Given the description of an element on the screen output the (x, y) to click on. 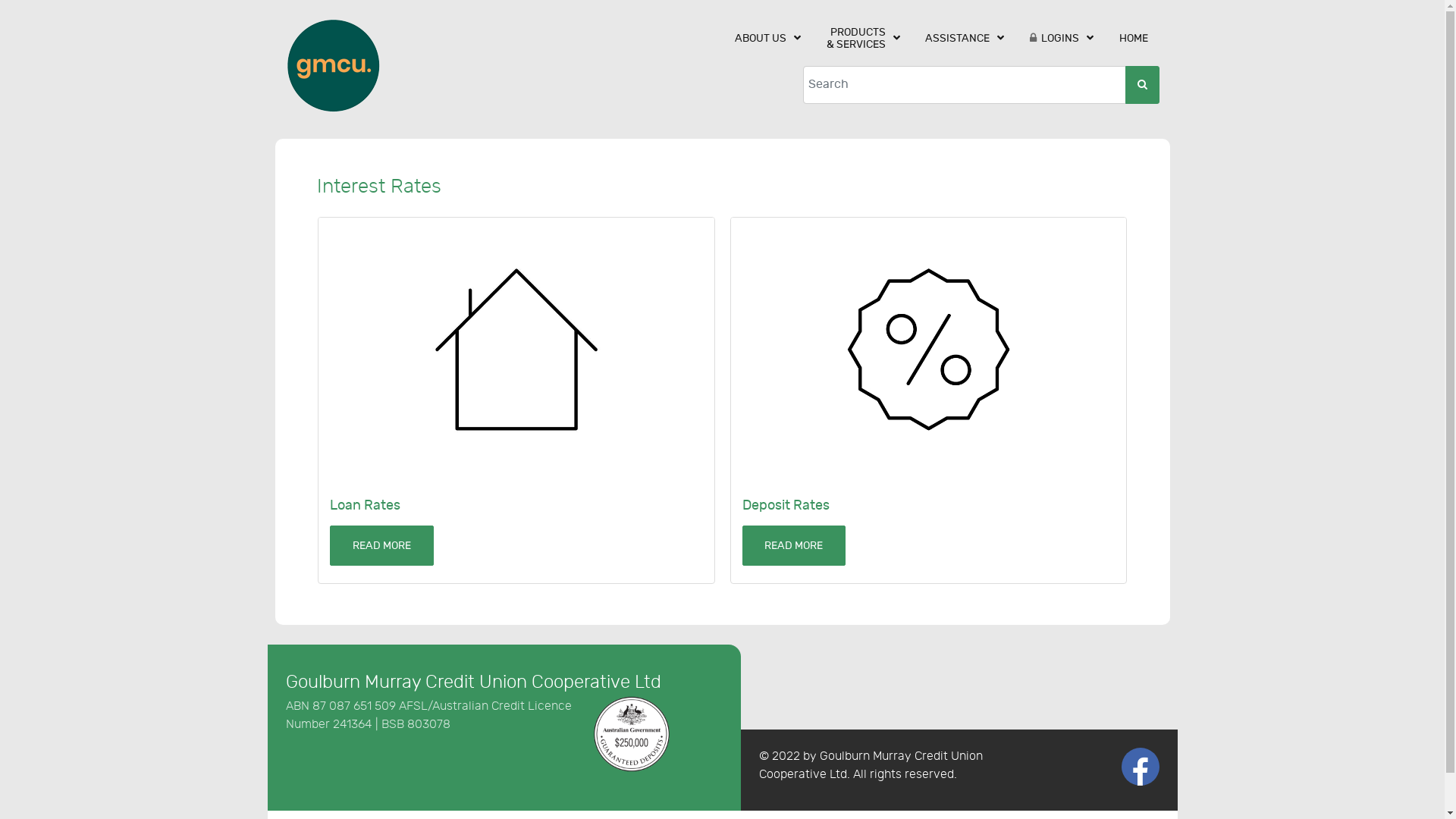
READ MORE Element type: text (793, 545)
READ MORE Element type: text (381, 545)
HOME Element type: text (1133, 38)
